Given the description of an element on the screen output the (x, y) to click on. 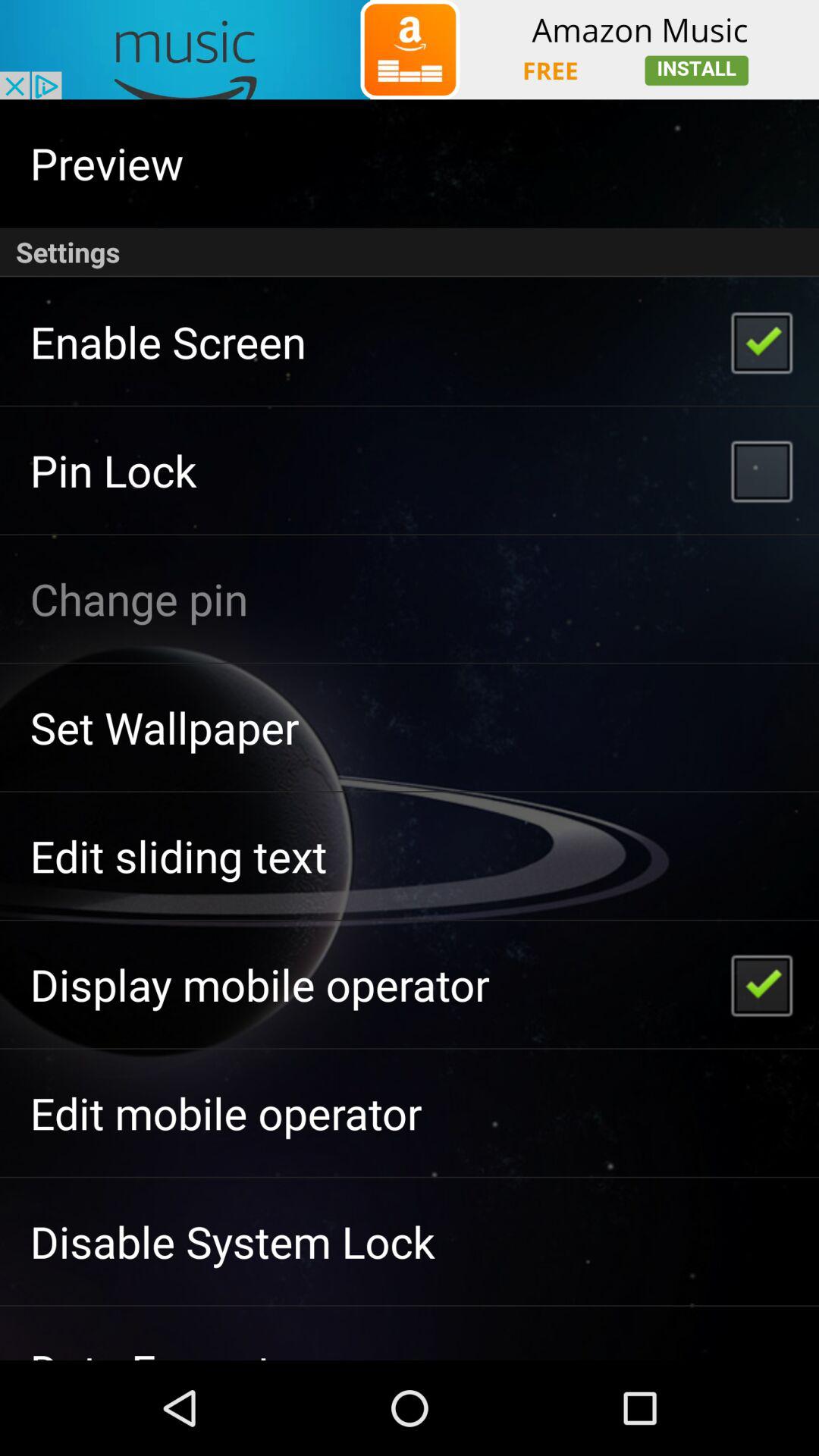
install amazon music (409, 49)
